Given the description of an element on the screen output the (x, y) to click on. 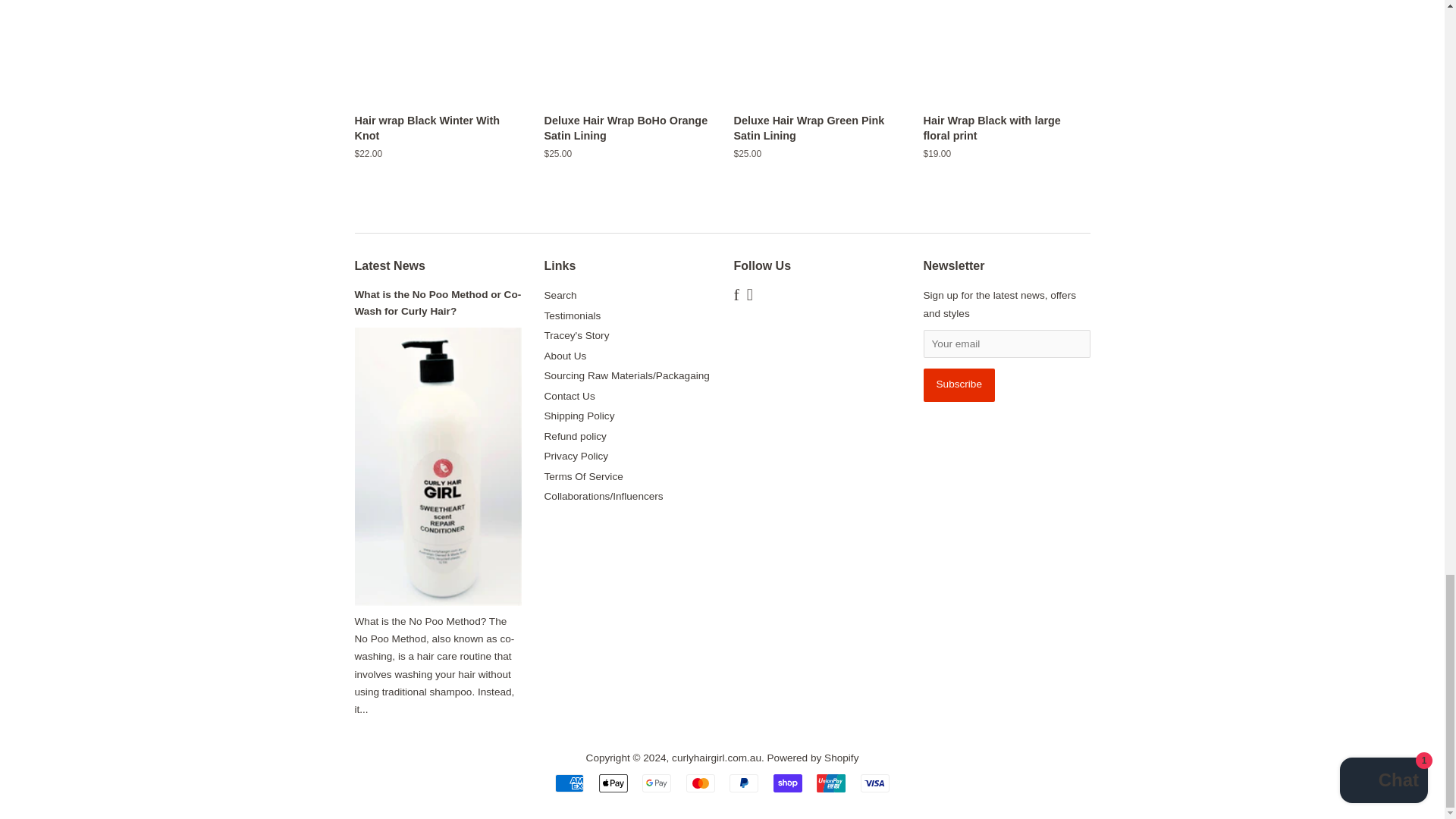
Apple Pay (612, 782)
American Express (568, 782)
Google Pay (656, 782)
Shop Pay (787, 782)
Visa (874, 782)
Union Pay (830, 782)
PayPal (743, 782)
Mastercard (699, 782)
Subscribe (958, 385)
